Given the description of an element on the screen output the (x, y) to click on. 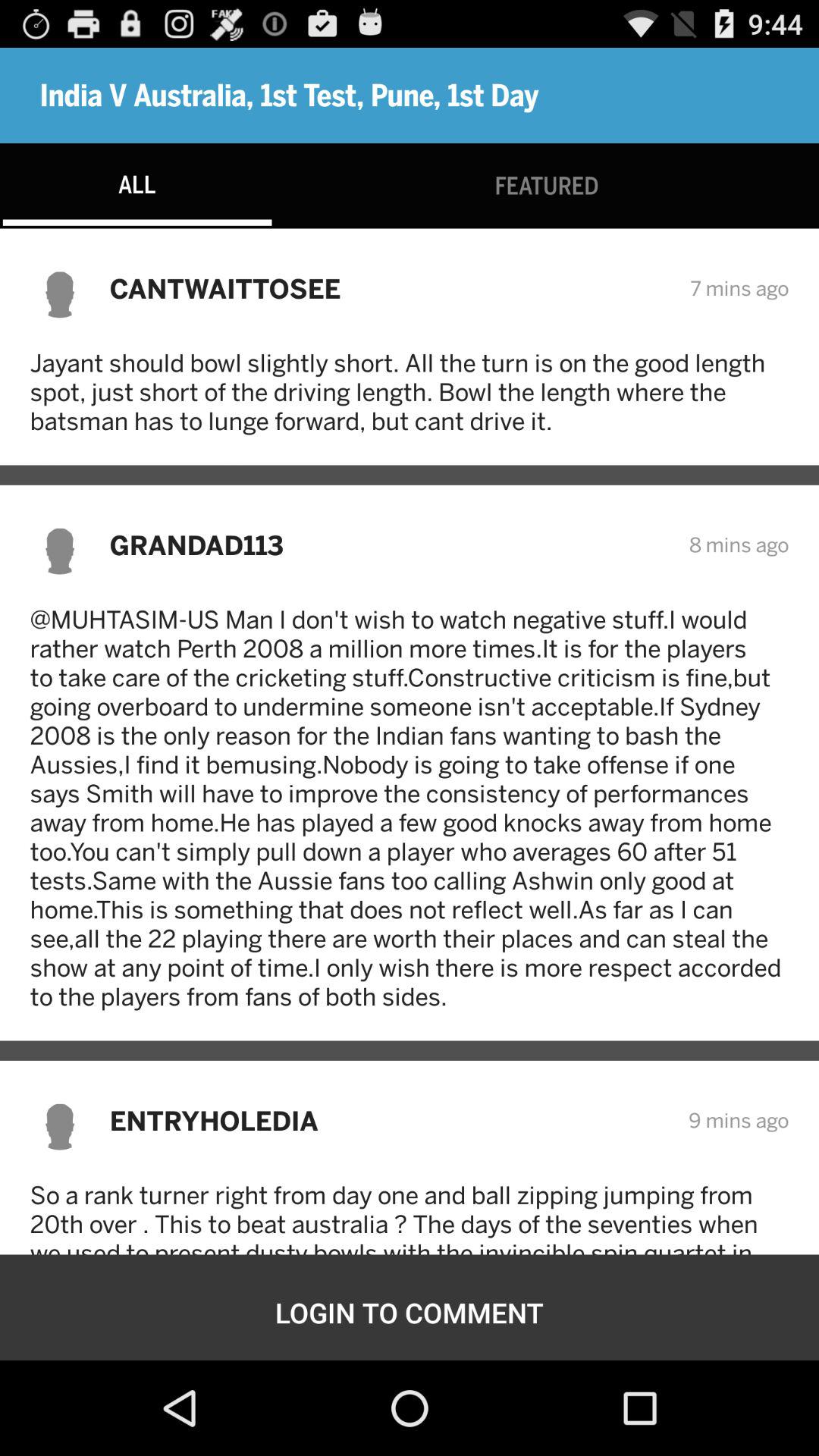
select the item above the login to comment item (409, 1217)
